Given the description of an element on the screen output the (x, y) to click on. 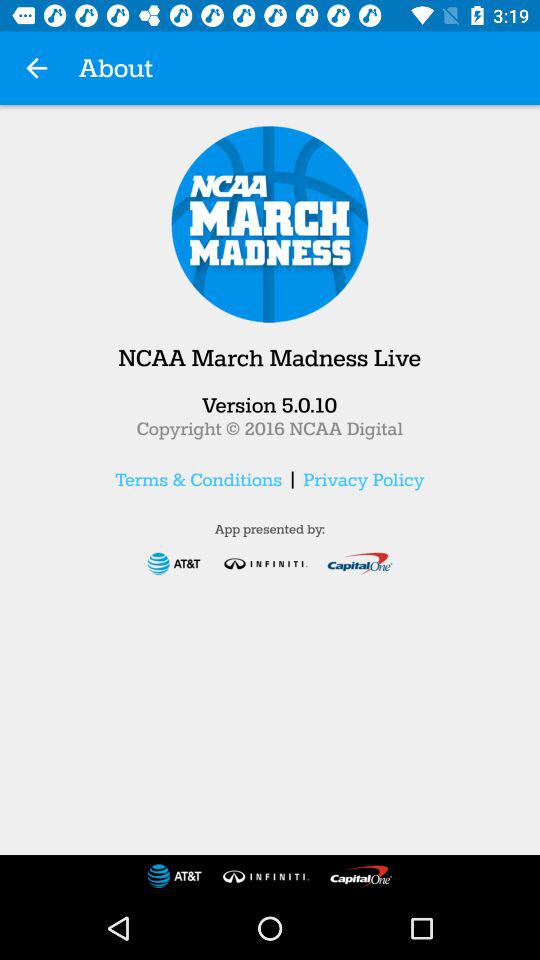
choose the item to the left of the about item (36, 68)
